Given the description of an element on the screen output the (x, y) to click on. 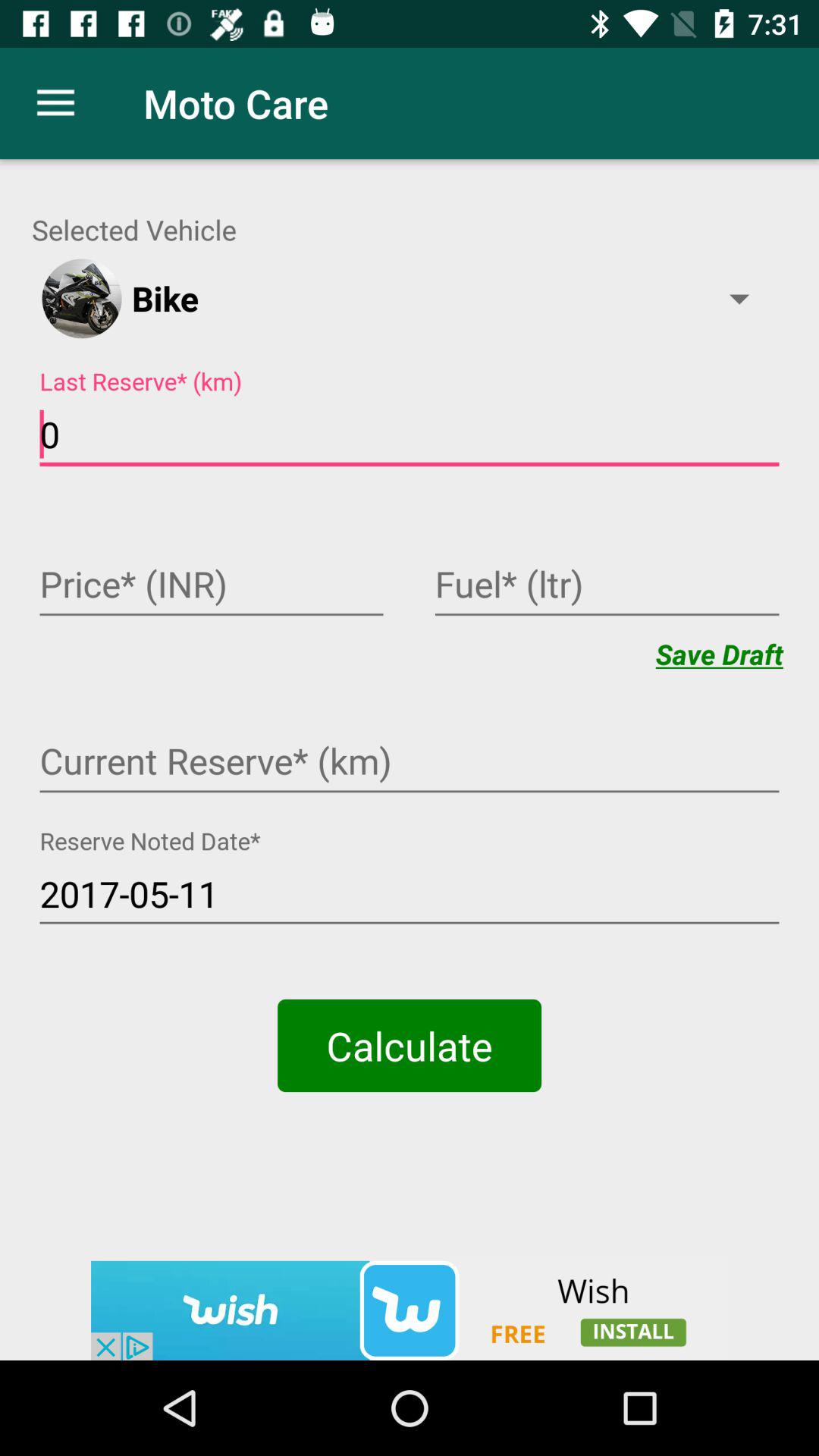
open current reserve text box (409, 763)
